Given the description of an element on the screen output the (x, y) to click on. 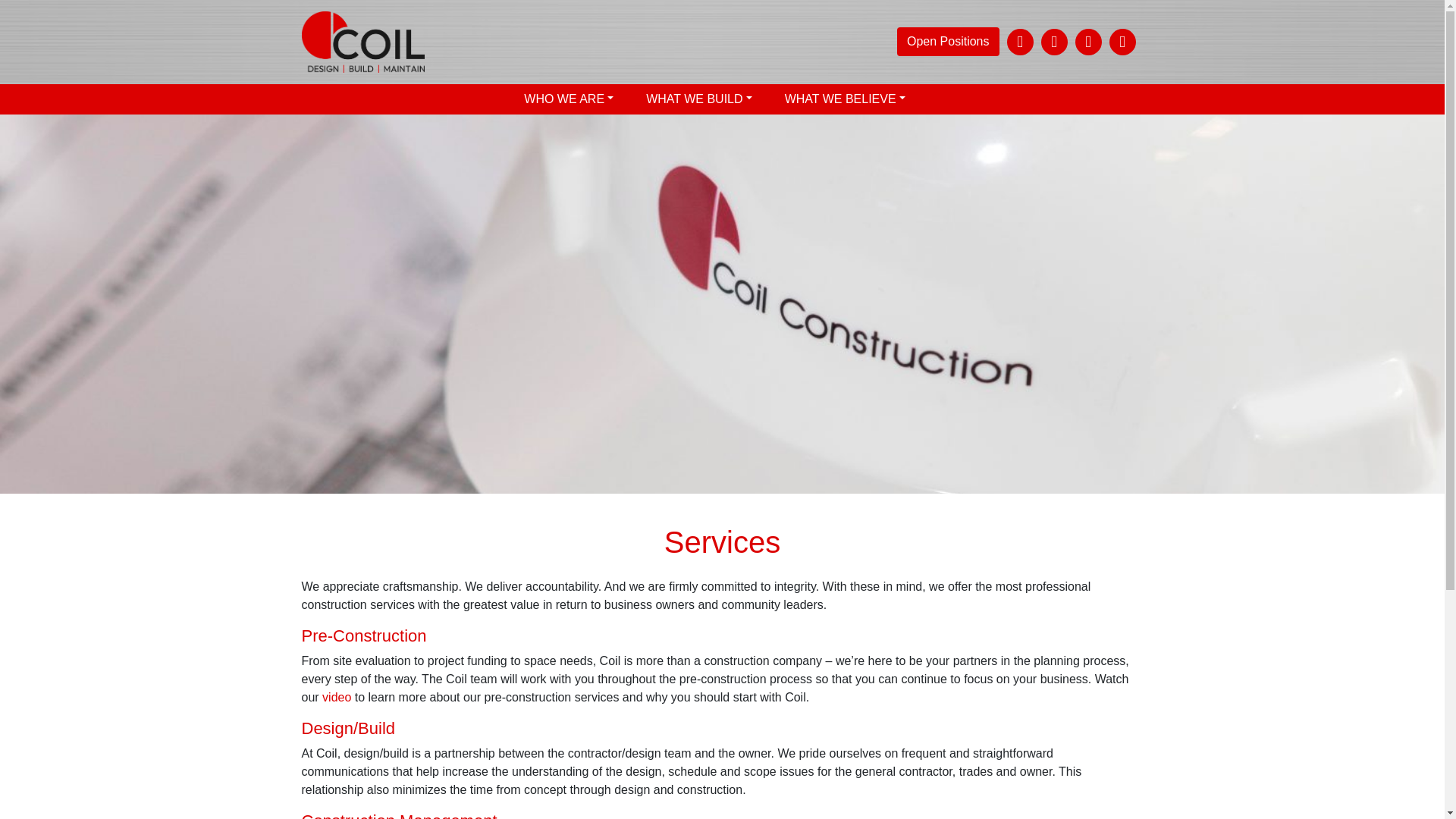
WHAT WE BELIEVE (844, 98)
Open Positions (947, 41)
WHO WE ARE (569, 98)
WHAT WE BUILD (700, 98)
video (335, 697)
